Given the description of an element on the screen output the (x, y) to click on. 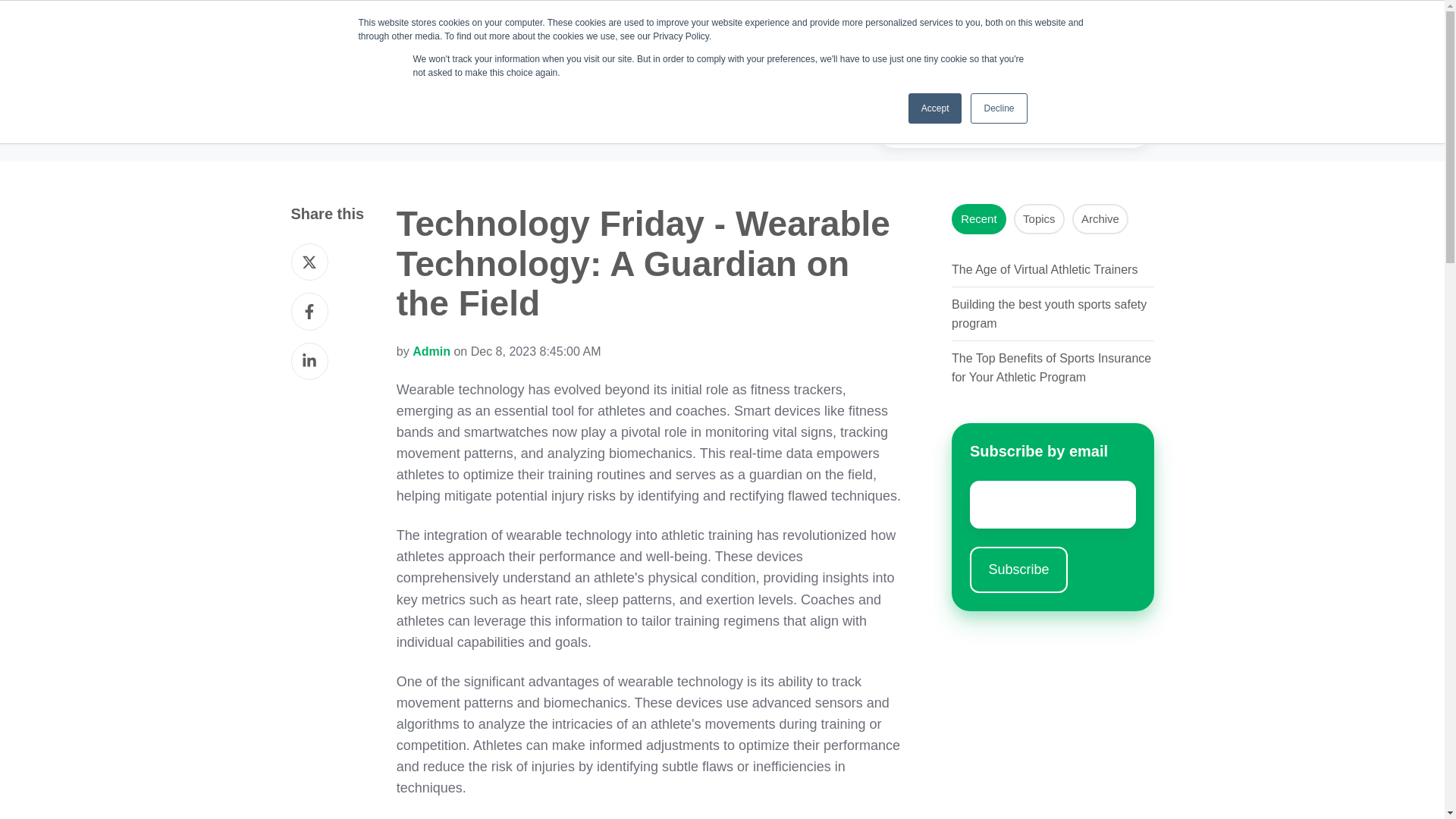
About Us (898, 45)
Subscribe (1018, 569)
Resources (810, 45)
Accept (935, 108)
Contact (978, 45)
Login (1105, 45)
Solutions (722, 45)
Decline (998, 108)
